Given the description of an element on the screen output the (x, y) to click on. 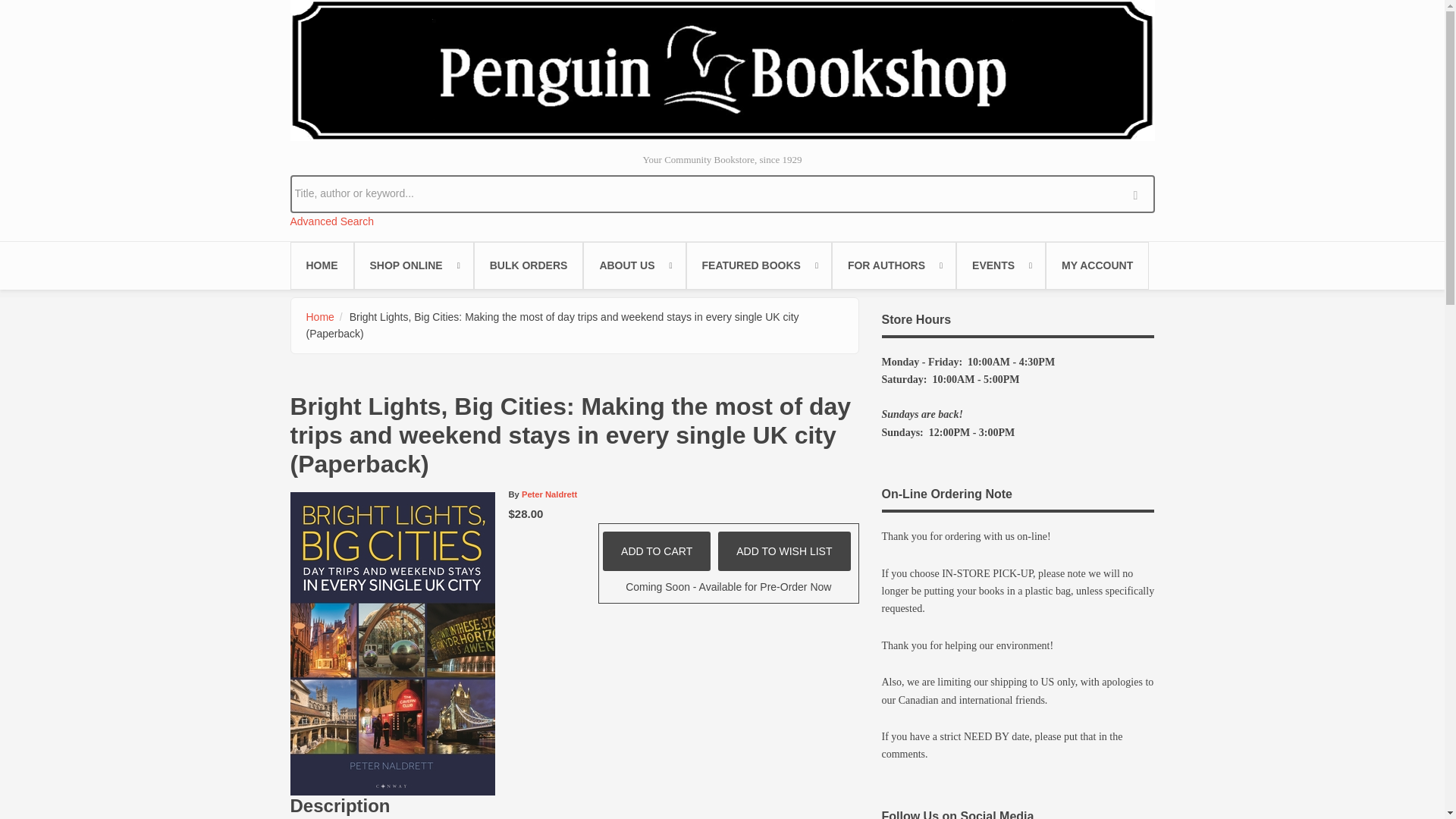
SHOP ONLINE (413, 265)
EVENTS (1000, 265)
Advanced Search (331, 221)
Peter Naldrett (548, 493)
Title, author or keyword... (721, 193)
Self-published author information (893, 265)
FEATURED BOOKS (758, 265)
FOR AUTHORS (893, 265)
Add to Cart (656, 550)
Add to Cart (656, 550)
Home (721, 69)
ADD TO WISH LIST (783, 550)
BULK ORDERS (528, 265)
ABOUT US (634, 265)
MY ACCOUNT (1096, 265)
